Given the description of an element on the screen output the (x, y) to click on. 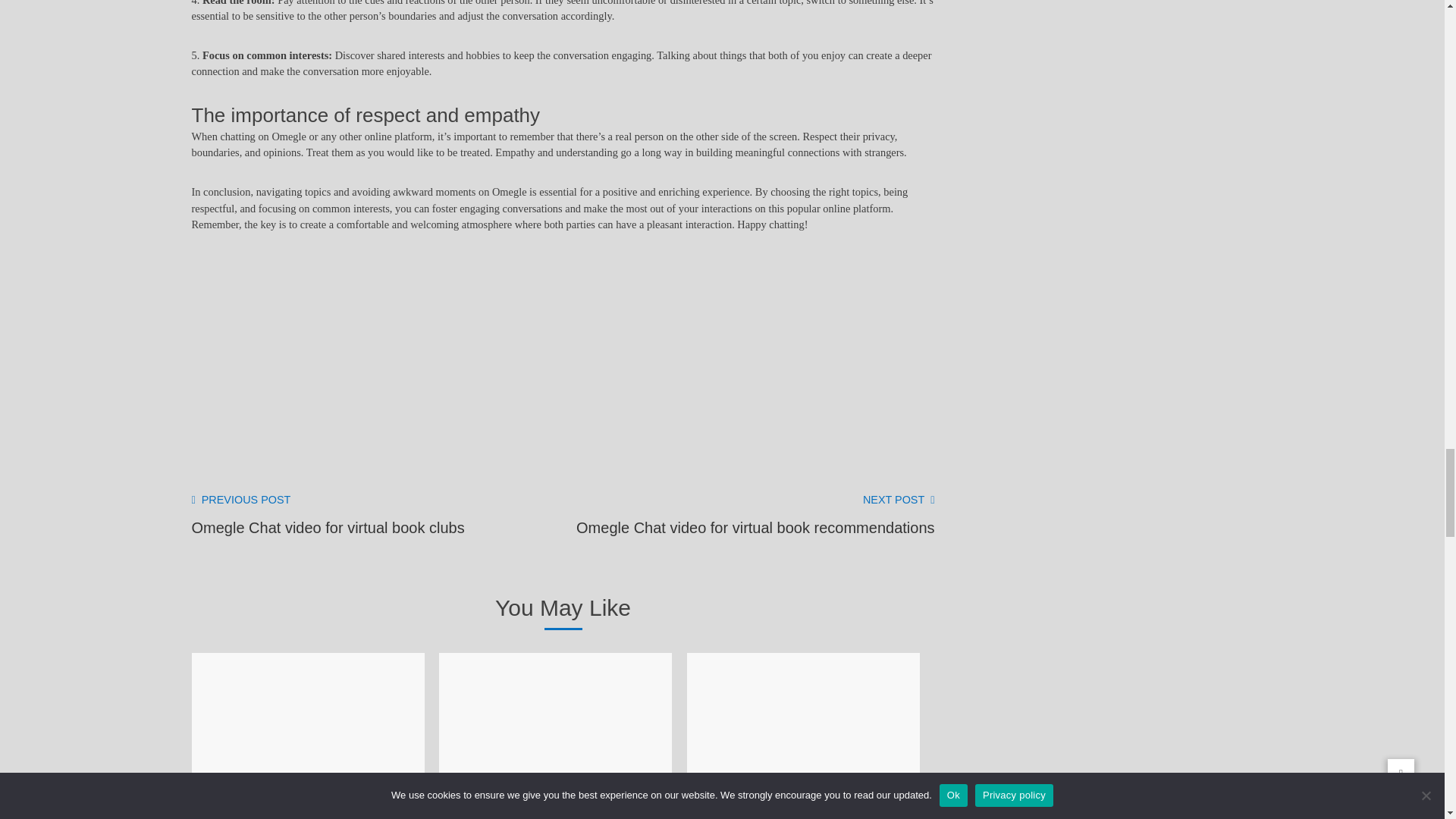
Omegle Video Chat for sharing cooking recipes (327, 515)
Omegle chat for sharing personal and life experiences (555, 816)
Omegle chat for sharing personal and life experiences (307, 806)
Omegle Video Chat for sharing cooking recipes (307, 806)
